Given the description of an element on the screen output the (x, y) to click on. 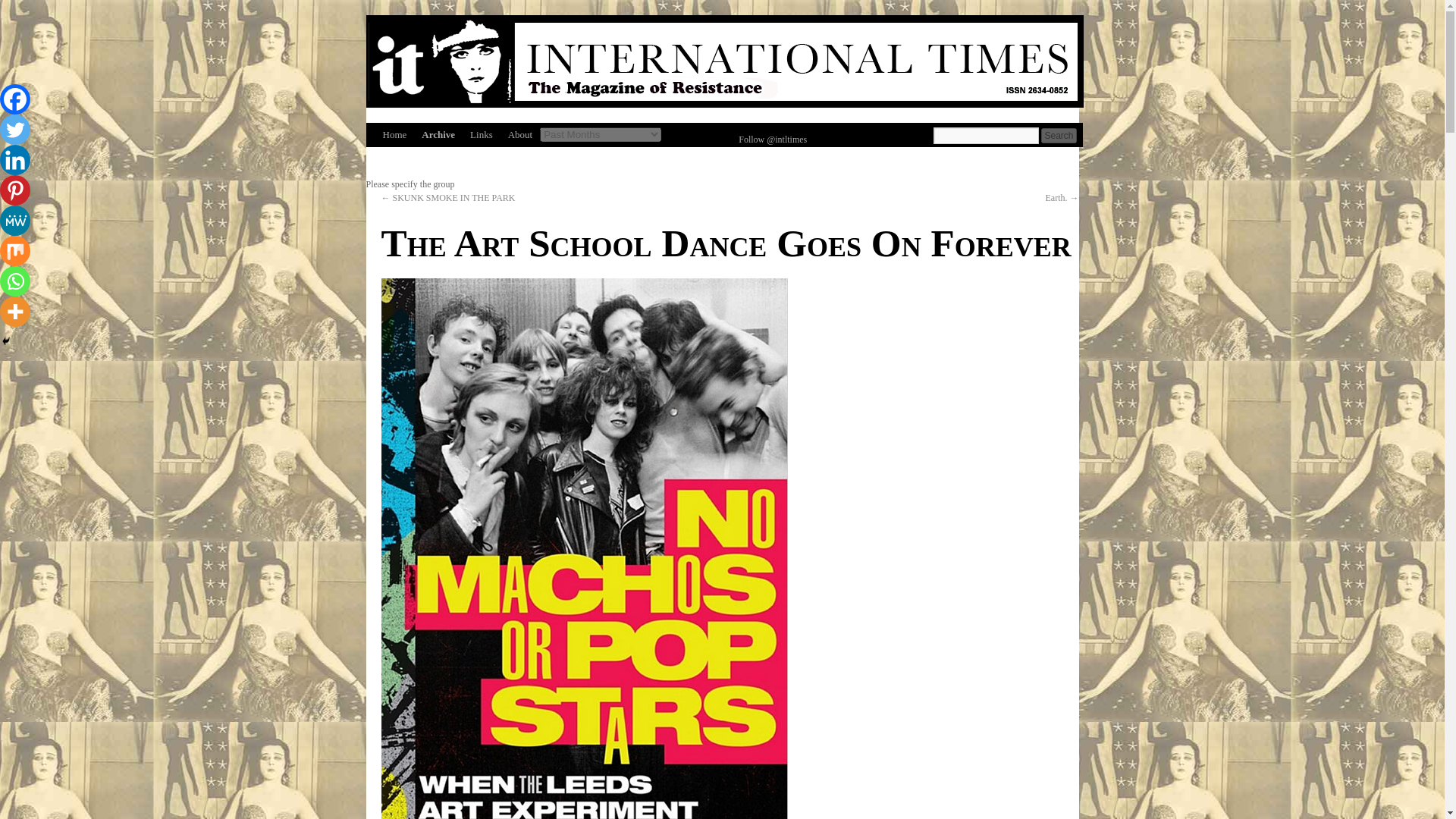
Search (1058, 135)
Home (393, 134)
Facebook (15, 99)
Archive (438, 134)
Linkedin (15, 159)
Search (1058, 135)
Twitter (15, 129)
Links (481, 134)
Like International Times on facebook (695, 135)
About (520, 134)
